Given the description of an element on the screen output the (x, y) to click on. 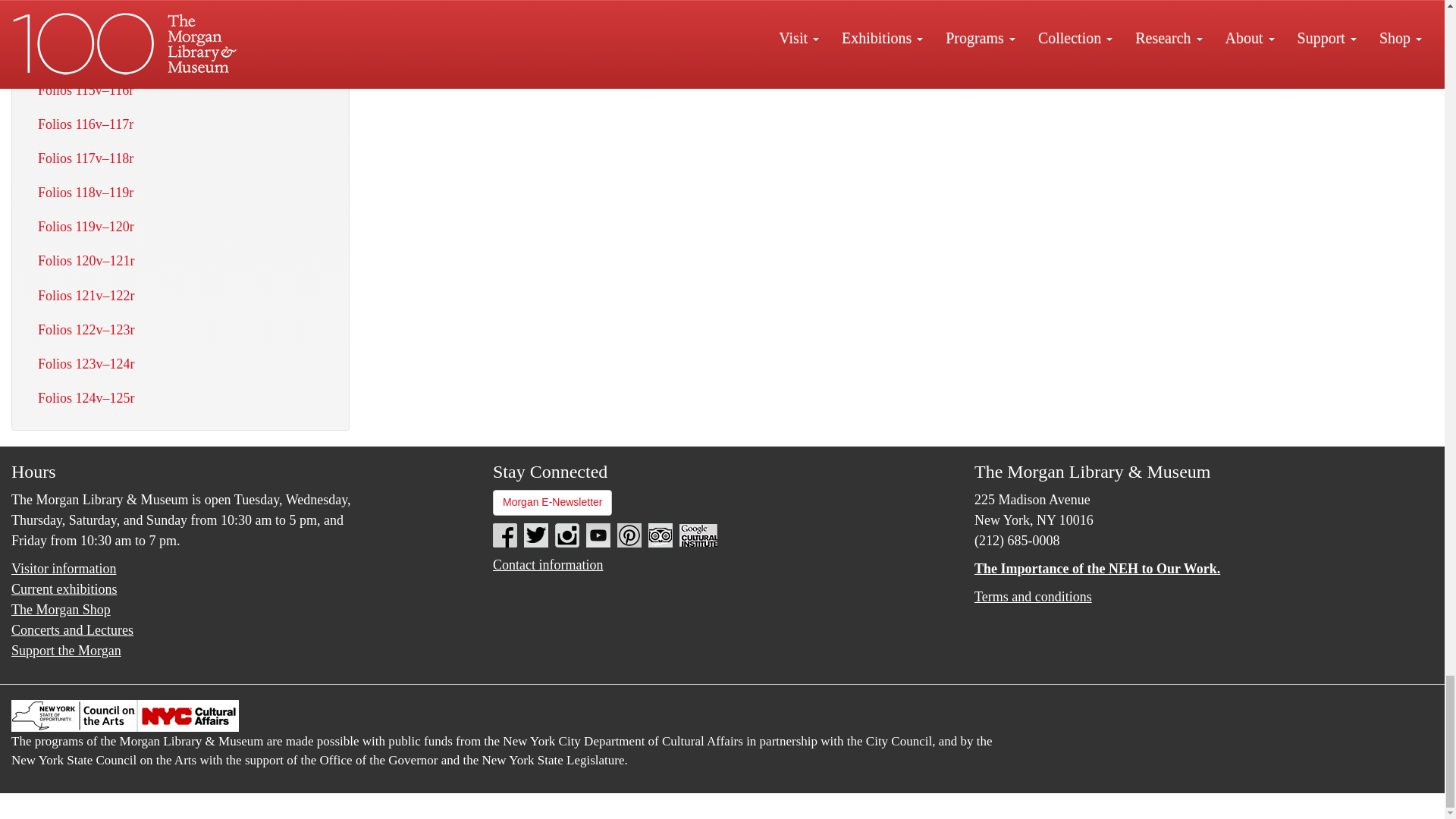
Google conversion frame (75, 803)
